Given the description of an element on the screen output the (x, y) to click on. 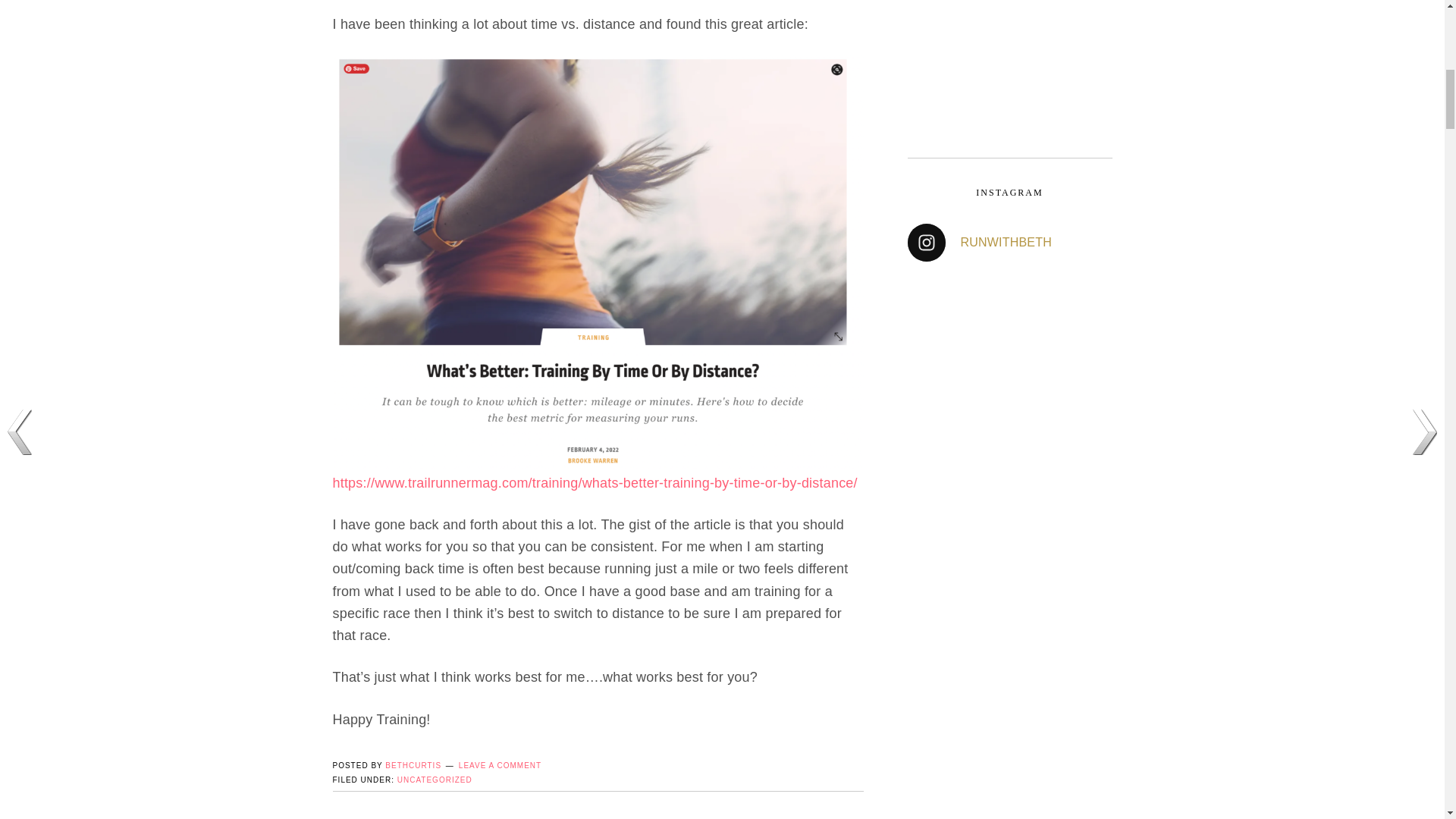
LEAVE A COMMENT (499, 765)
UNCATEGORIZED (434, 779)
BETHCURTIS (413, 765)
RUNWITHBETH (1009, 242)
